Given the description of an element on the screen output the (x, y) to click on. 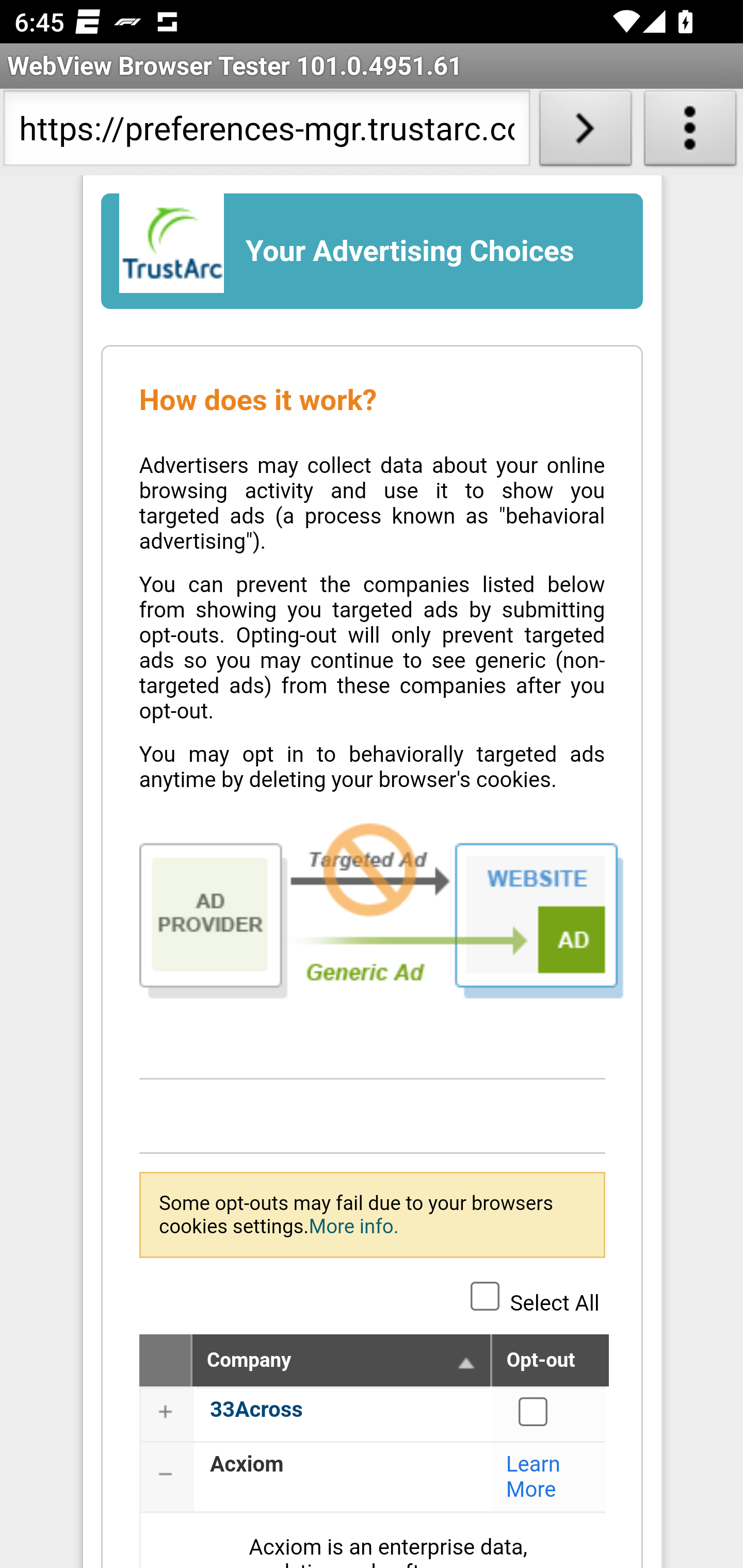
Load URL (585, 132)
About WebView (690, 132)
More info. (352, 1225)
 Select All  (484, 1294)
Company list, sort alphabetically ascending (466, 1361)
33Across (256, 1408)
33Across (533, 1410)
Acxiom (247, 1464)
Learn More (533, 1476)
